Given the description of an element on the screen output the (x, y) to click on. 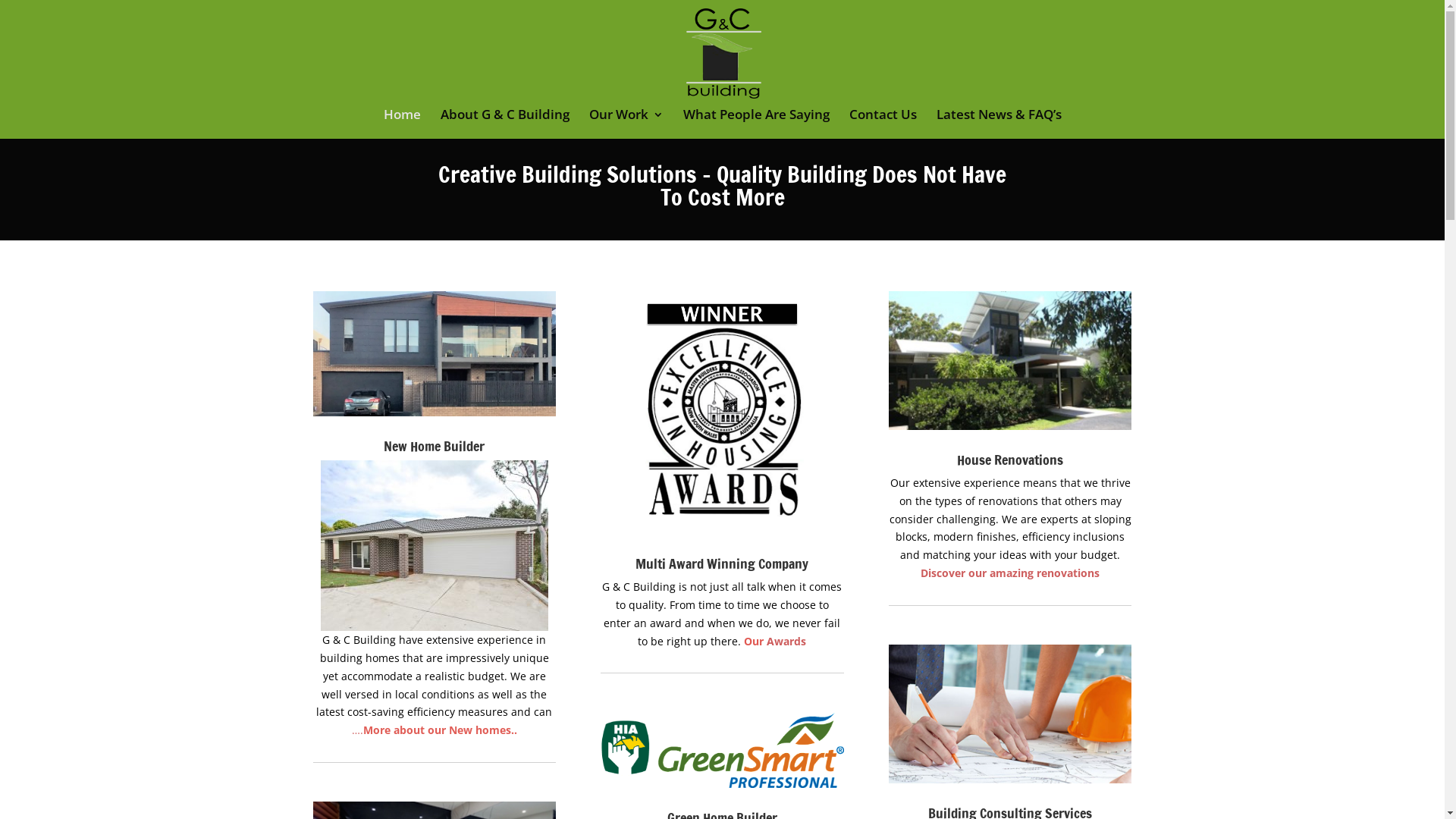
Contact Us Element type: text (882, 123)
About G & C Building Element type: text (503, 123)
Home Element type: text (401, 123)
Our Work Element type: text (625, 123)
More Element type: text (376, 729)
What People Are Saying Element type: text (755, 123)
Discover our amazing renovations Element type: text (1009, 572)
Awards Element type: text (786, 640)
